Given the description of an element on the screen output the (x, y) to click on. 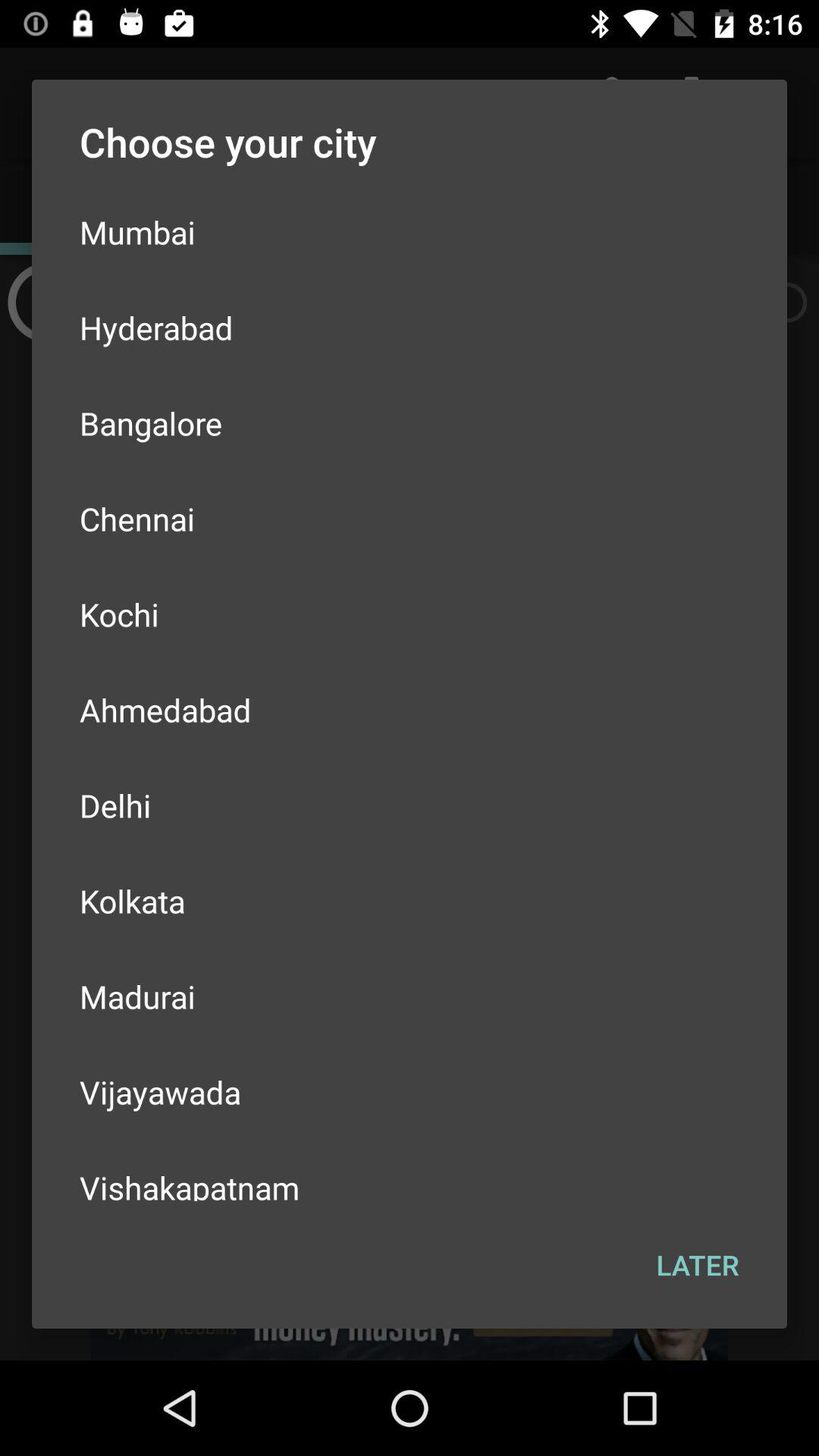
jump to the later (697, 1264)
